Given the description of an element on the screen output the (x, y) to click on. 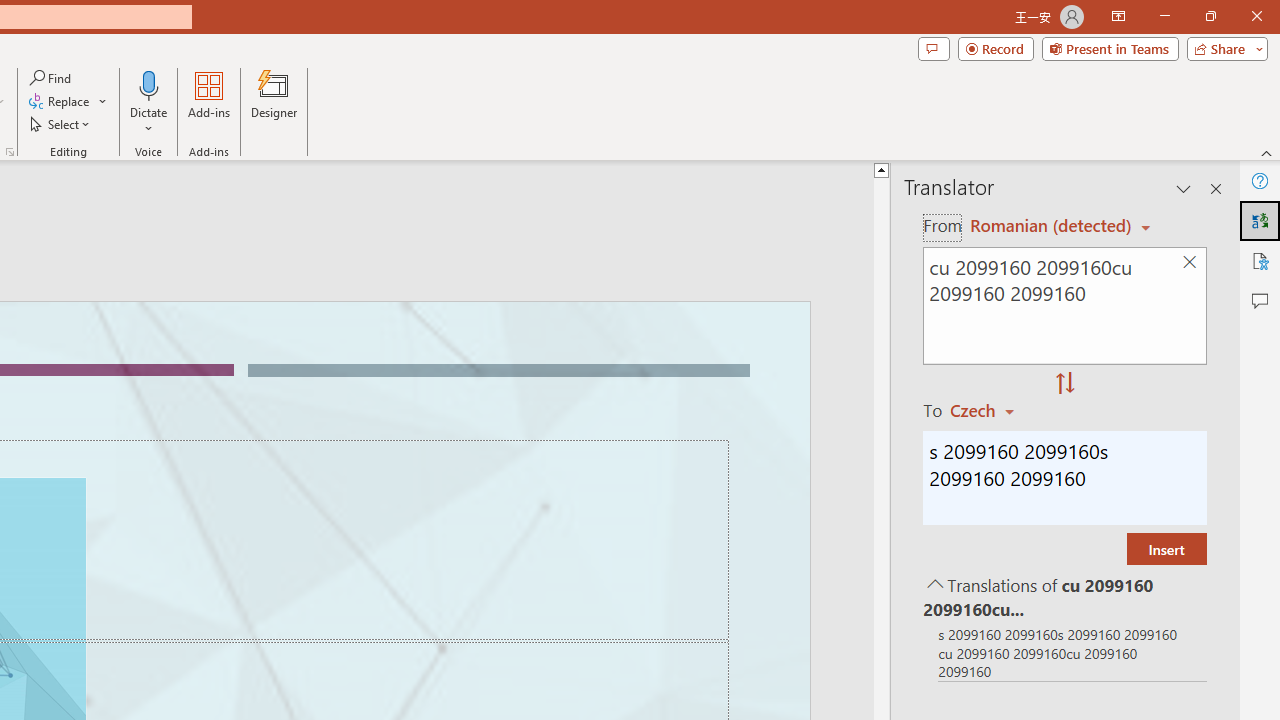
Czech (991, 409)
